Given the description of an element on the screen output the (x, y) to click on. 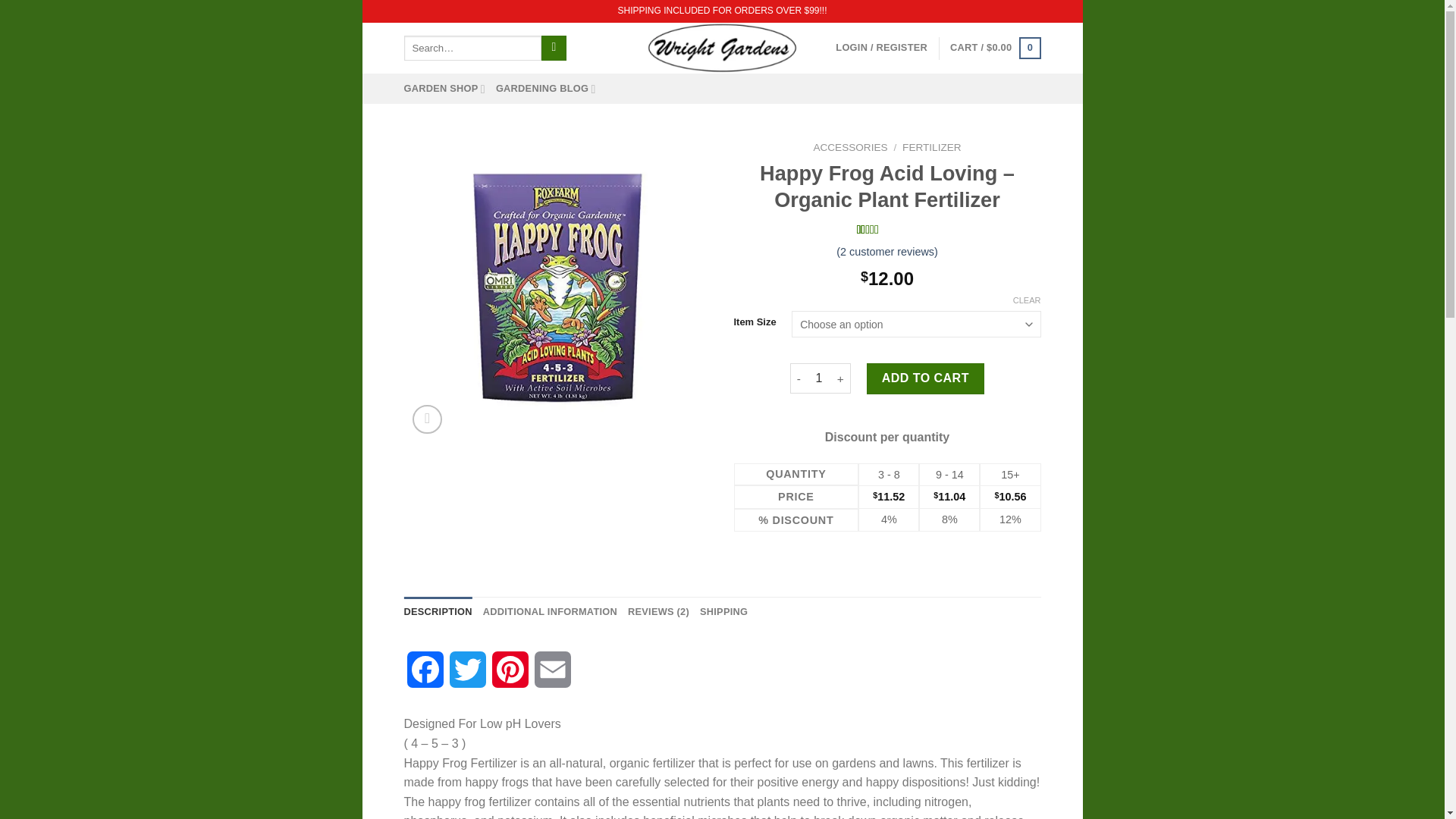
Facebook (424, 676)
Search (553, 48)
Email (552, 676)
Pinterest (509, 676)
Zoom (427, 419)
GARDEN SHOP (443, 88)
Twitter (466, 676)
